Given the description of an element on the screen output the (x, y) to click on. 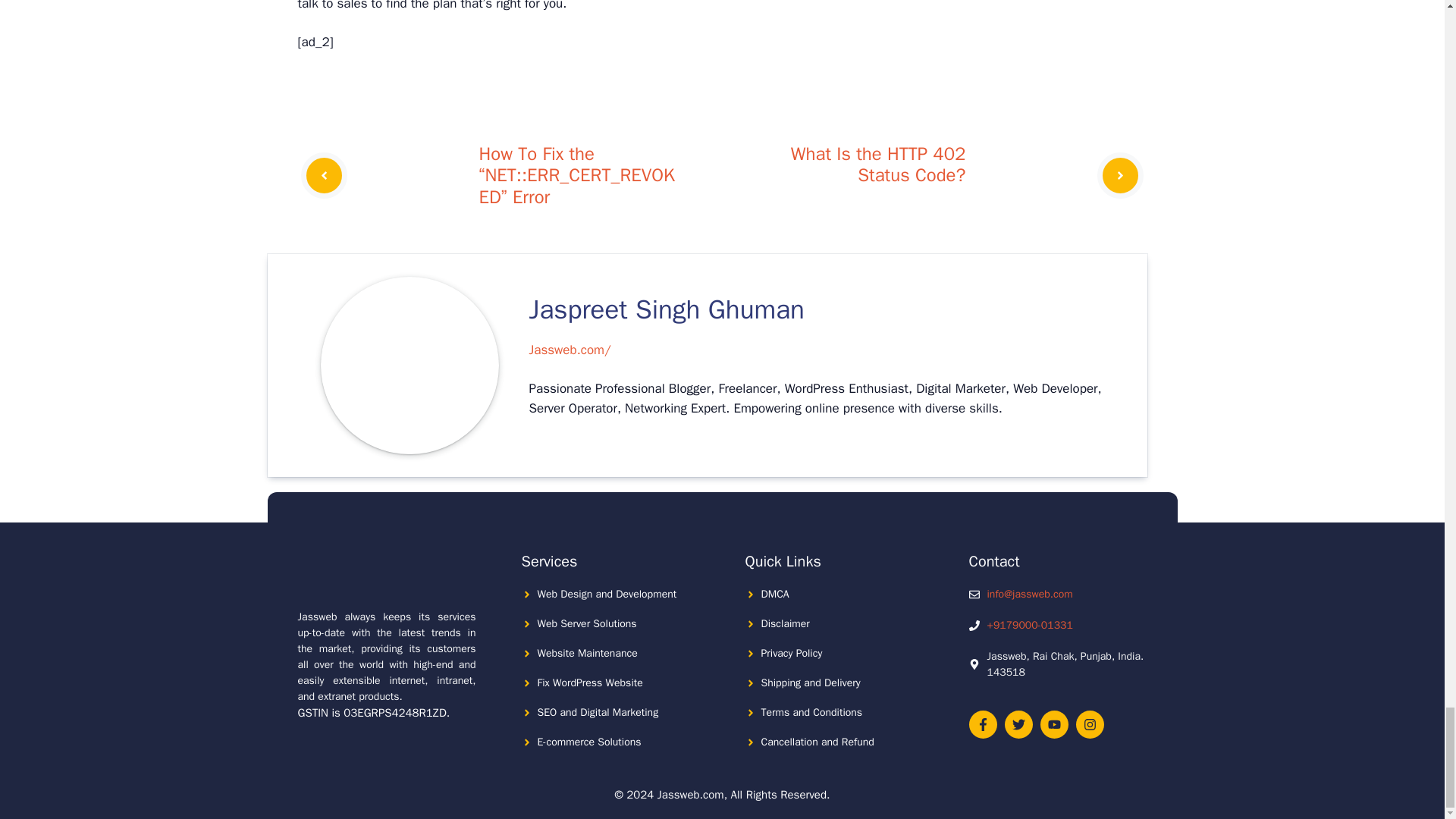
What Is the HTTP 402 Status Code? (878, 164)
Web Design and Development (607, 594)
SEO and Digital Marketing (597, 712)
E-commerce Solutions (588, 741)
Fix WordPress Website (589, 682)
Website Maintenance (587, 653)
DMCA (775, 594)
Web Server Solutions (586, 623)
